Given the description of an element on the screen output the (x, y) to click on. 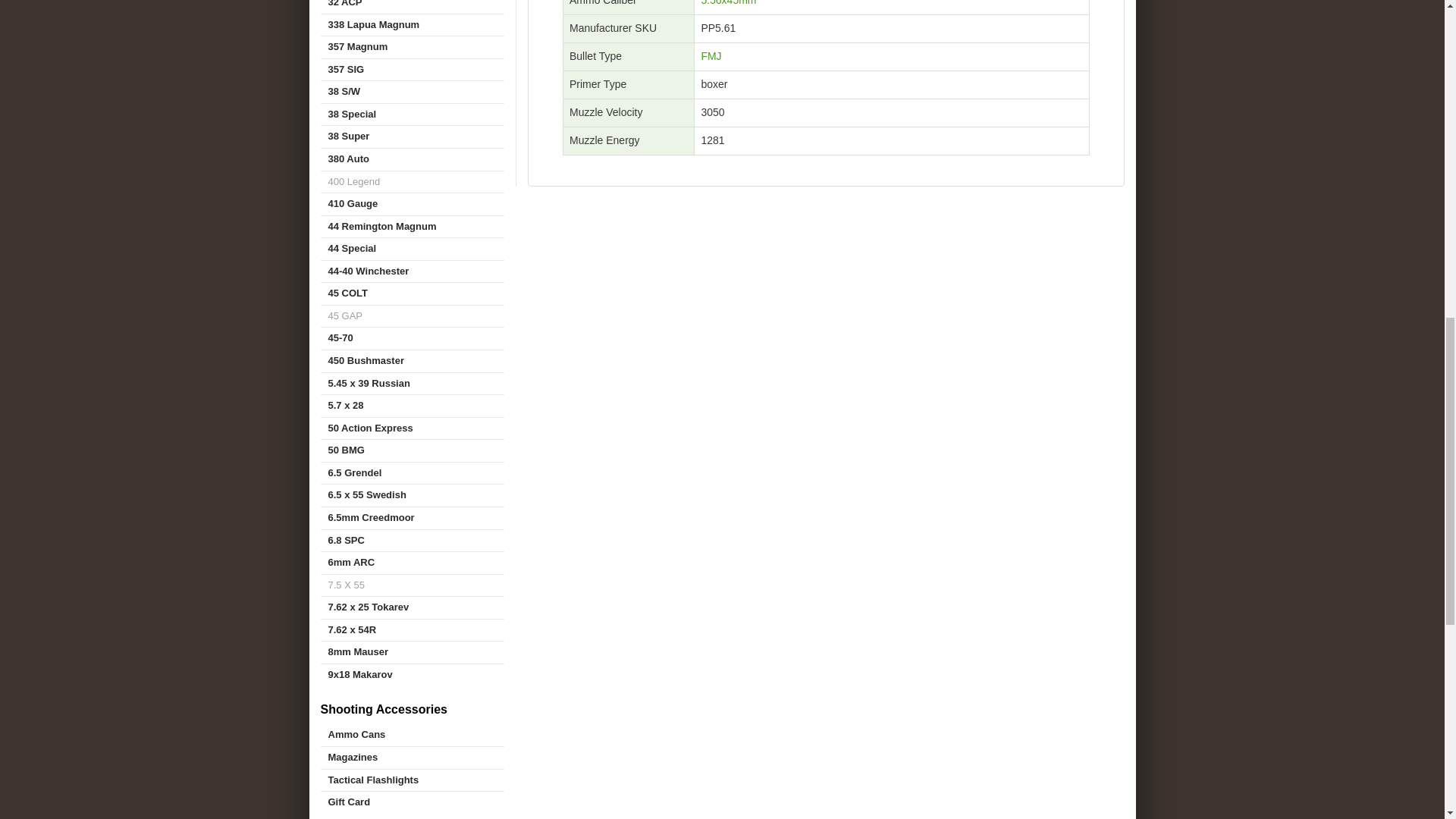
What is full metal jacket? (710, 55)
223 ammo (727, 2)
FMJ (710, 55)
5.56x45mm (727, 2)
